Given the description of an element on the screen output the (x, y) to click on. 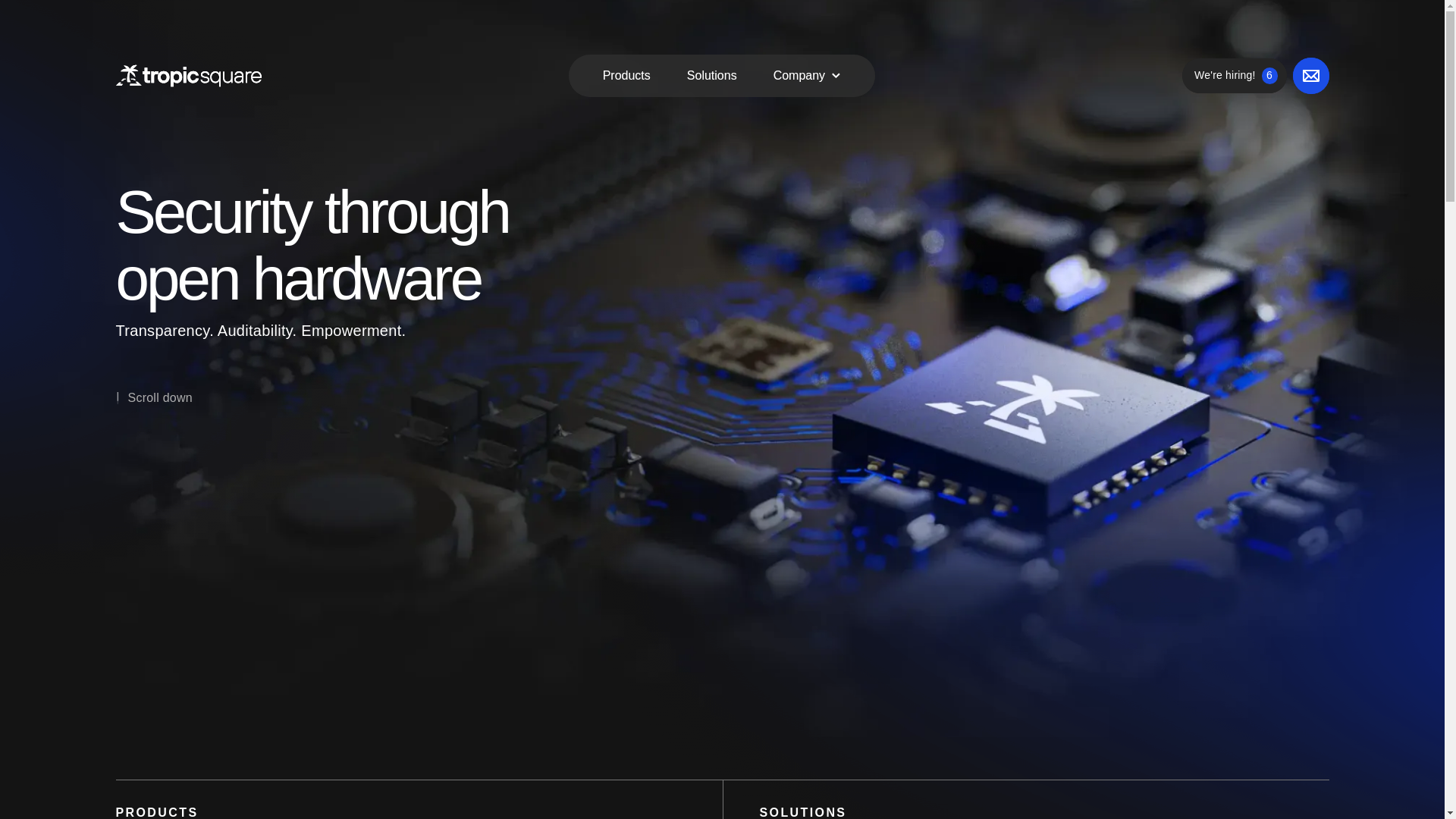
Products (626, 75)
Scroll down (160, 397)
Company (1233, 76)
Scroll down (799, 75)
Solutions (153, 397)
